Given the description of an element on the screen output the (x, y) to click on. 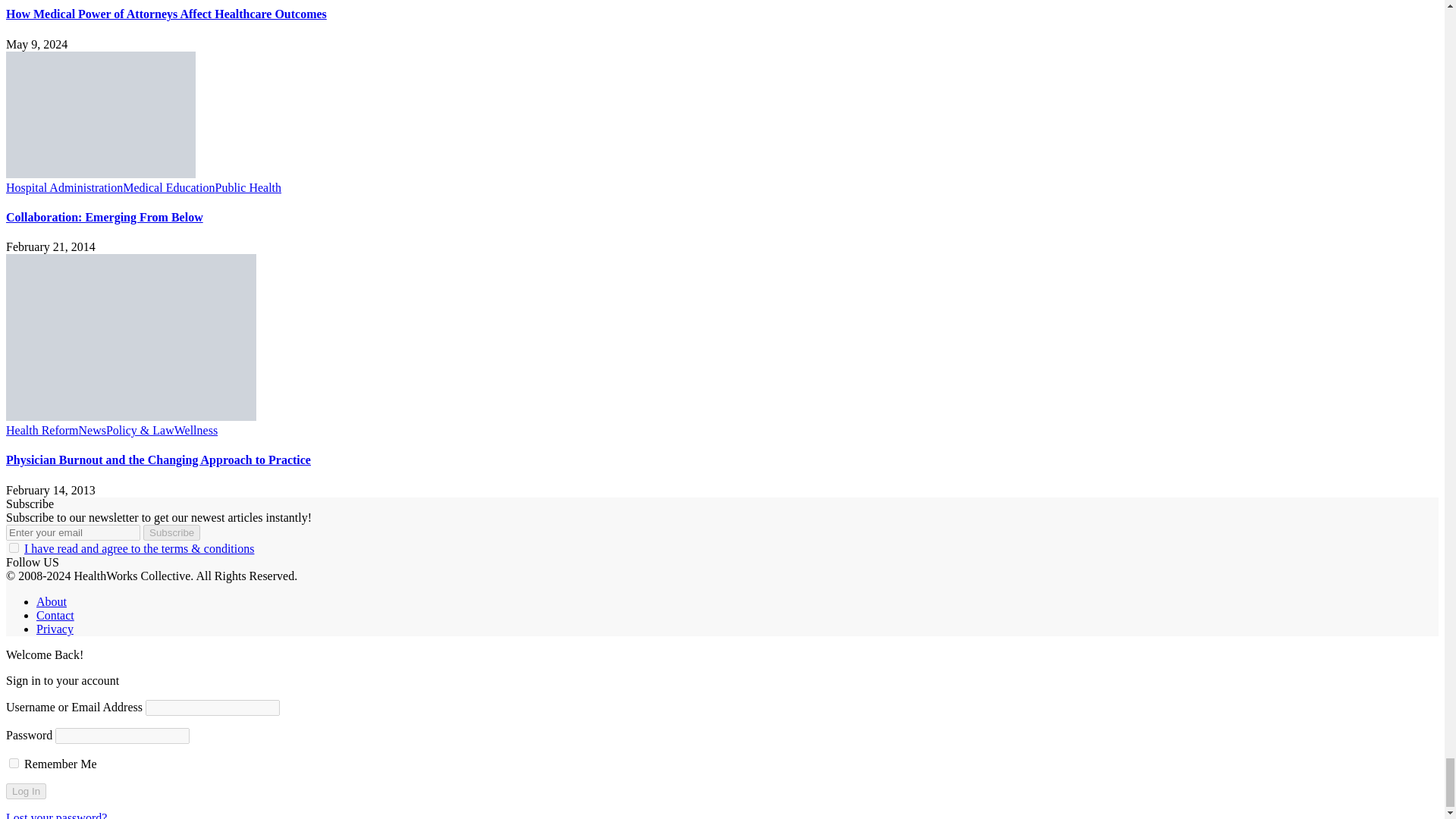
Subscribe (171, 532)
1 (13, 547)
Log In (25, 790)
forever (13, 763)
